Given the description of an element on the screen output the (x, y) to click on. 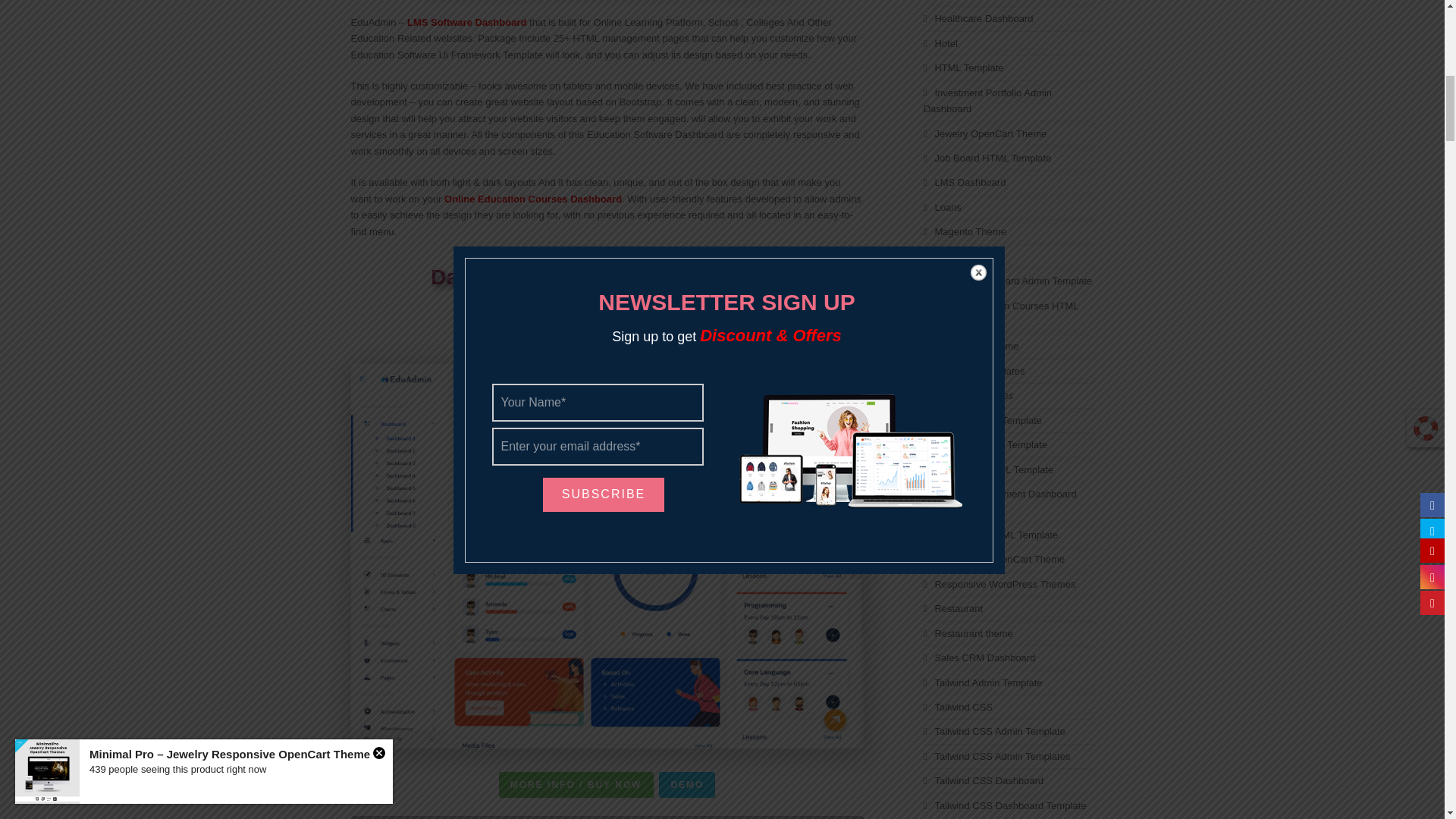
DEMO (686, 784)
Online Education Courses Dashboard (532, 198)
LMS Software Dashboard (466, 21)
